Given the description of an element on the screen output the (x, y) to click on. 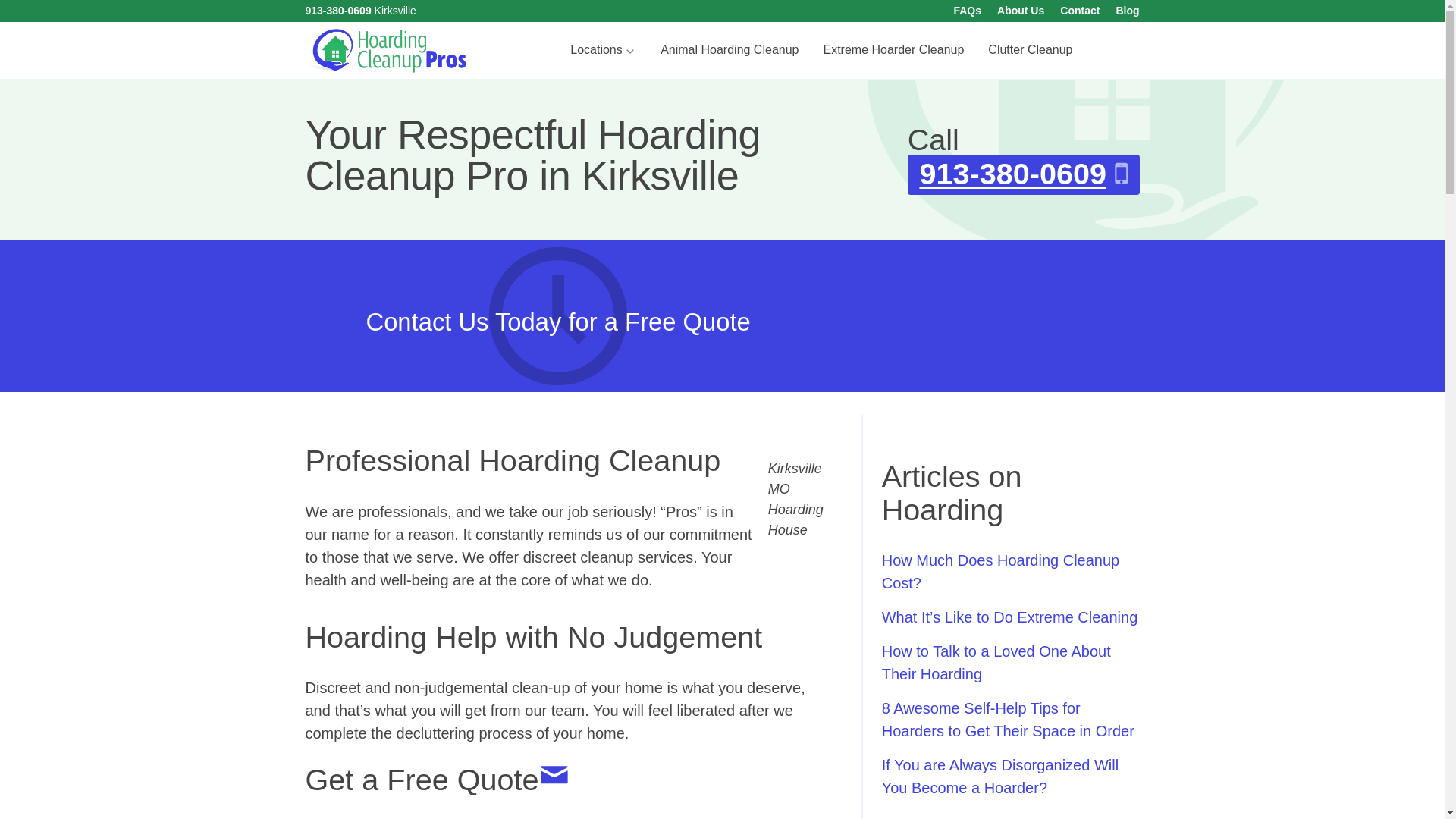
Extreme Hoarder Cleanup (892, 49)
About Us (1020, 10)
Animal Hoarding Cleanup (728, 49)
Locations (602, 49)
913-380-0609 (337, 10)
FAQs (967, 10)
Blog (1126, 10)
Contact (1079, 10)
913-380-0609 (1023, 174)
Clutter Cleanup (1029, 49)
